Given the description of an element on the screen output the (x, y) to click on. 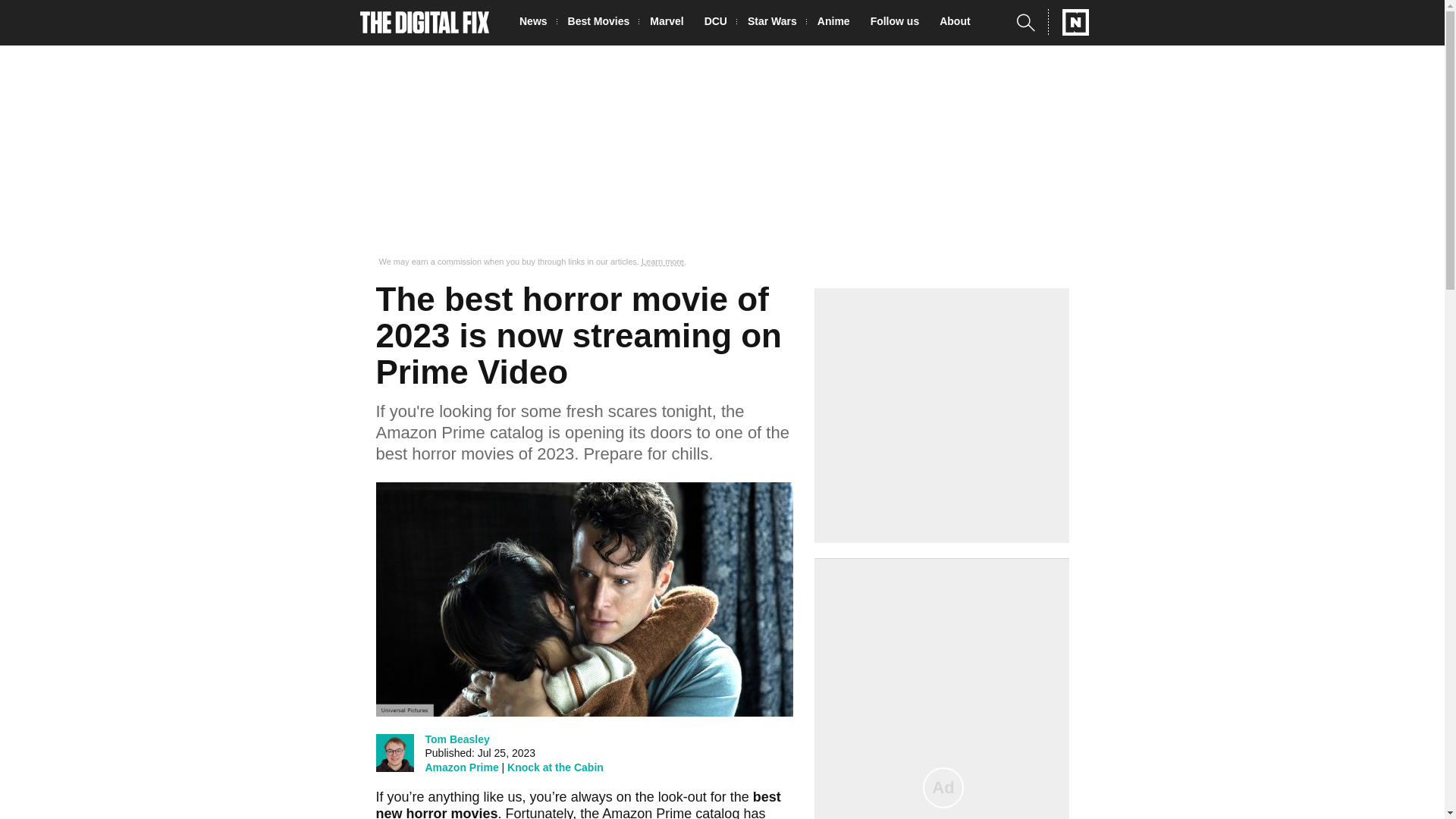
Learn more (663, 261)
Tom Beasley (457, 739)
Follow us (899, 22)
Anime News (837, 22)
Star Wars News (777, 22)
Marvel (671, 22)
Network N Media (1068, 22)
Marvel Cinematic Universe News (671, 22)
Star Wars (777, 22)
Best Movies (603, 22)
Knock at the Cabin (555, 767)
Anime (837, 22)
Amazon Prime (461, 767)
The Digital Fix (424, 22)
Amazon Prime (646, 812)
